Given the description of an element on the screen output the (x, y) to click on. 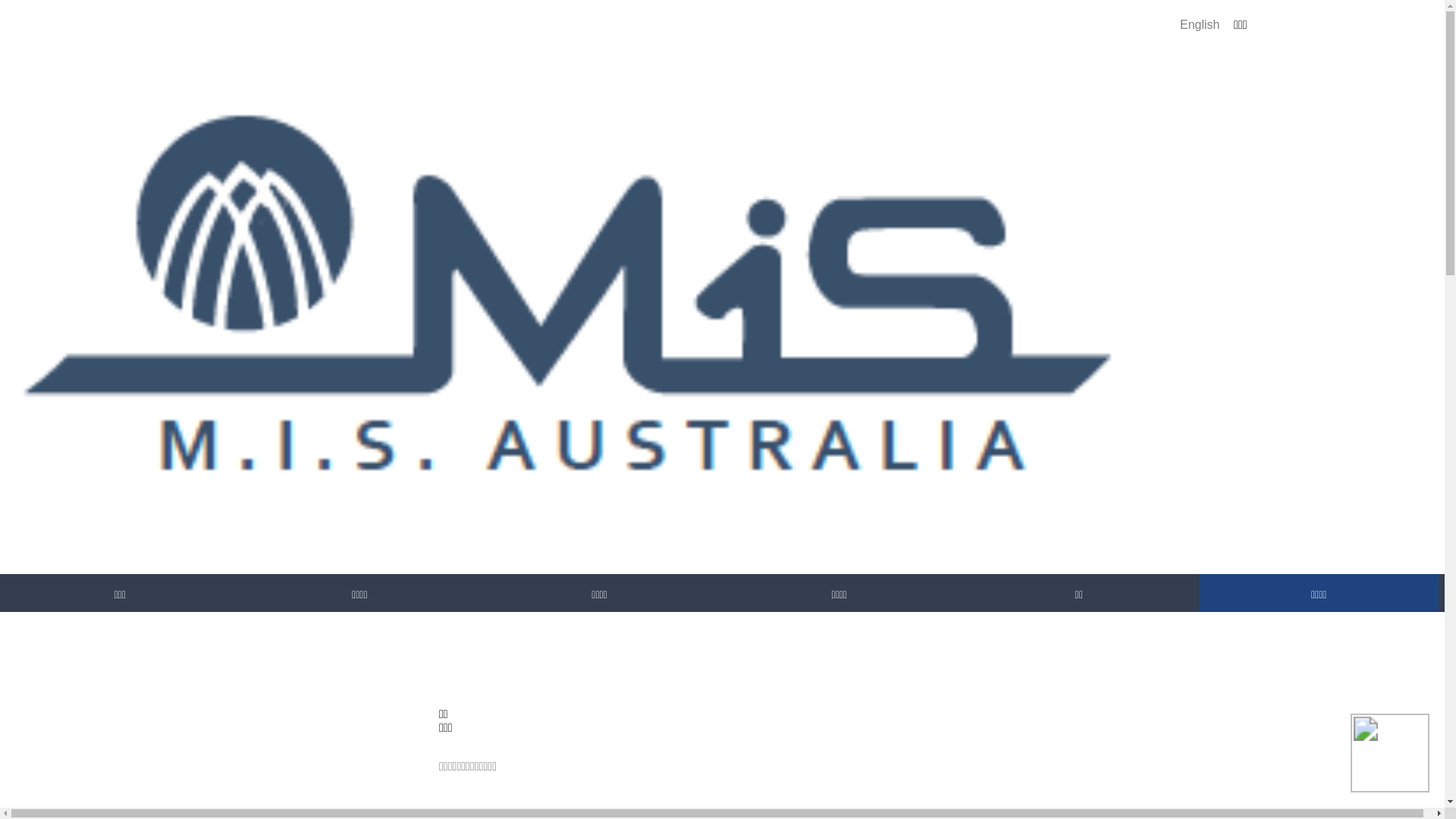
Back to top Element type: text (439, 689)
English Element type: text (1199, 24)
Jump to navigation Element type: text (0, 1)
Back to top Element type: text (439, 652)
